Given the description of an element on the screen output the (x, y) to click on. 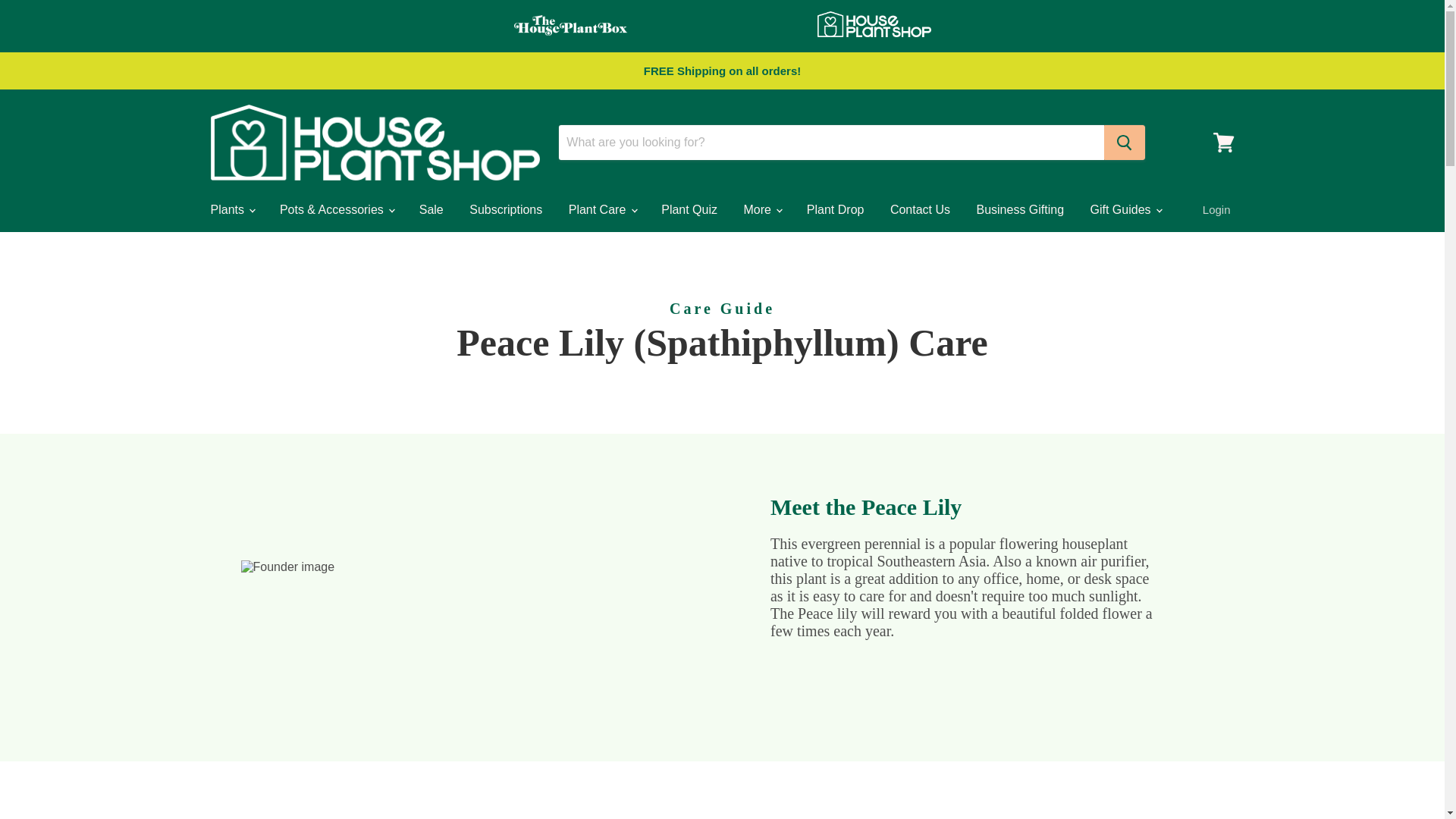
Plant Care (601, 210)
Sale (430, 210)
Subscriptions (505, 210)
View cart (1223, 142)
Plants (231, 210)
